Given the description of an element on the screen output the (x, y) to click on. 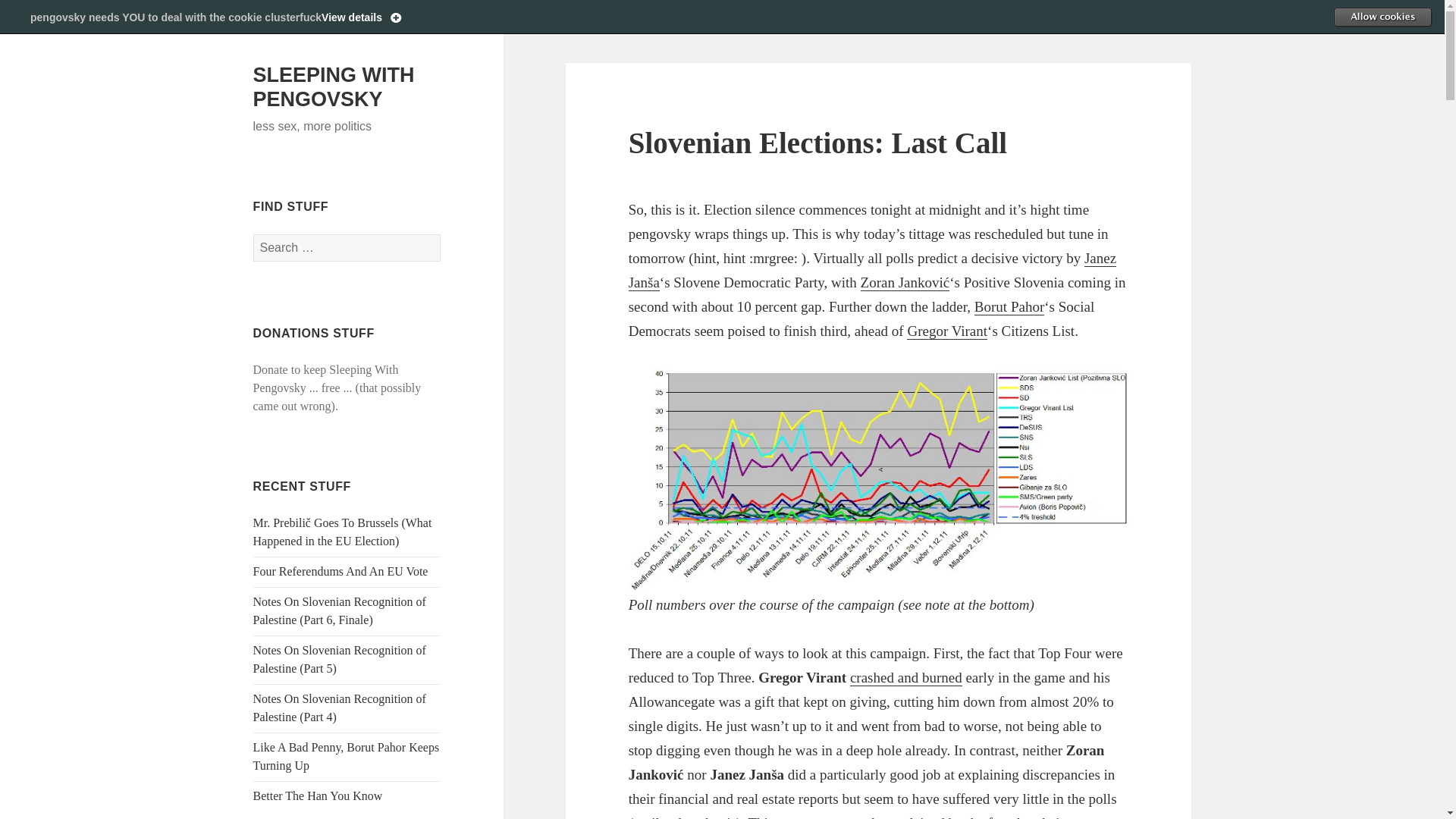
Better The Han You Know (317, 795)
SLEEPING WITH PENGOVSKY (333, 86)
Borut Pahor (1008, 306)
Like A Bad Penny, Borut Pahor Keeps Turning Up (346, 756)
Four Referendums And An EU Vote (340, 571)
Gregor Virant (947, 330)
